Given the description of an element on the screen output the (x, y) to click on. 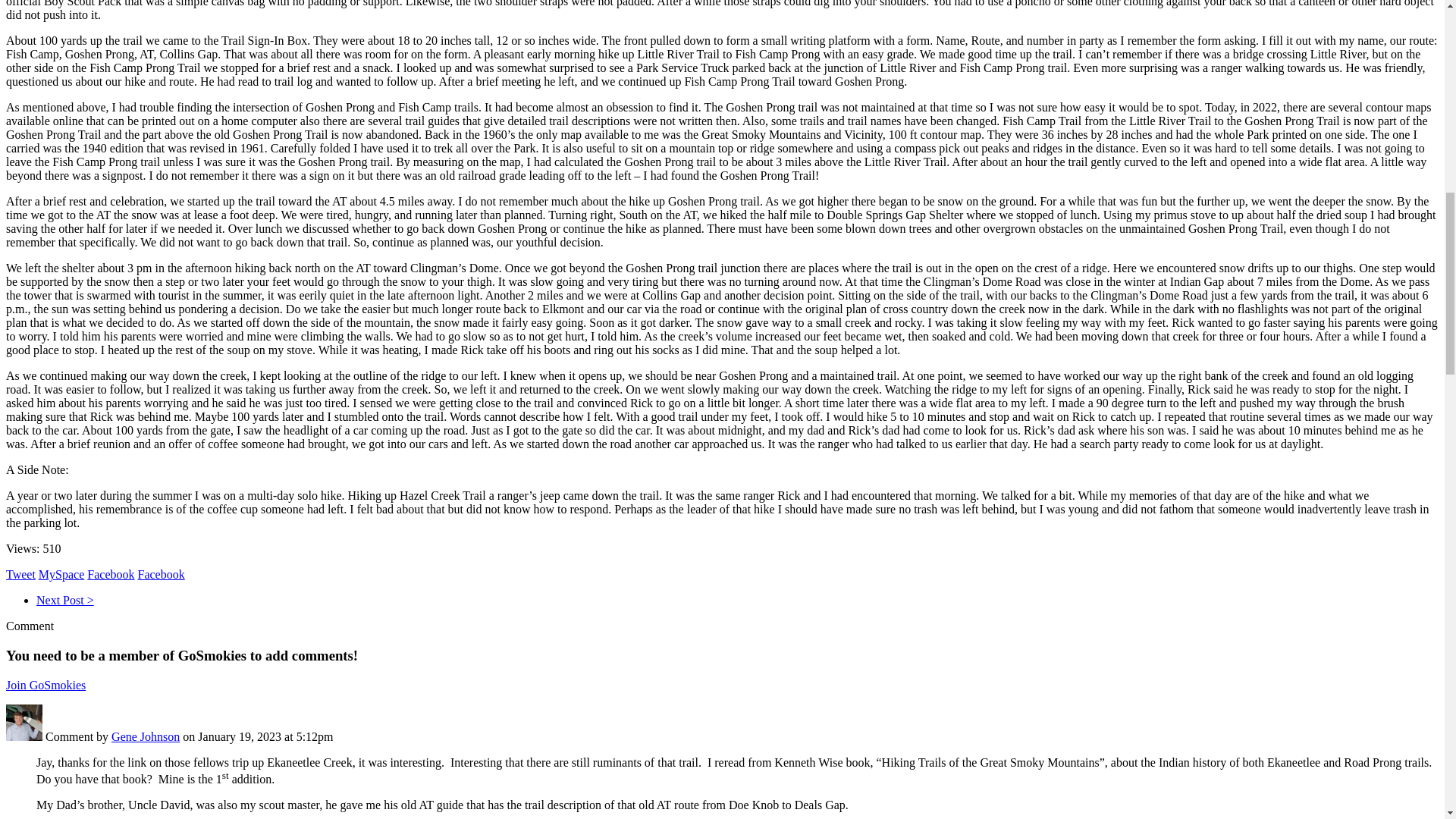
Join GoSmokies (45, 684)
Tweet (19, 574)
MySpace (61, 574)
Facebook (110, 574)
Gene Johnson (23, 736)
Gene Johnson (145, 736)
Facebook (161, 574)
